Given the description of an element on the screen output the (x, y) to click on. 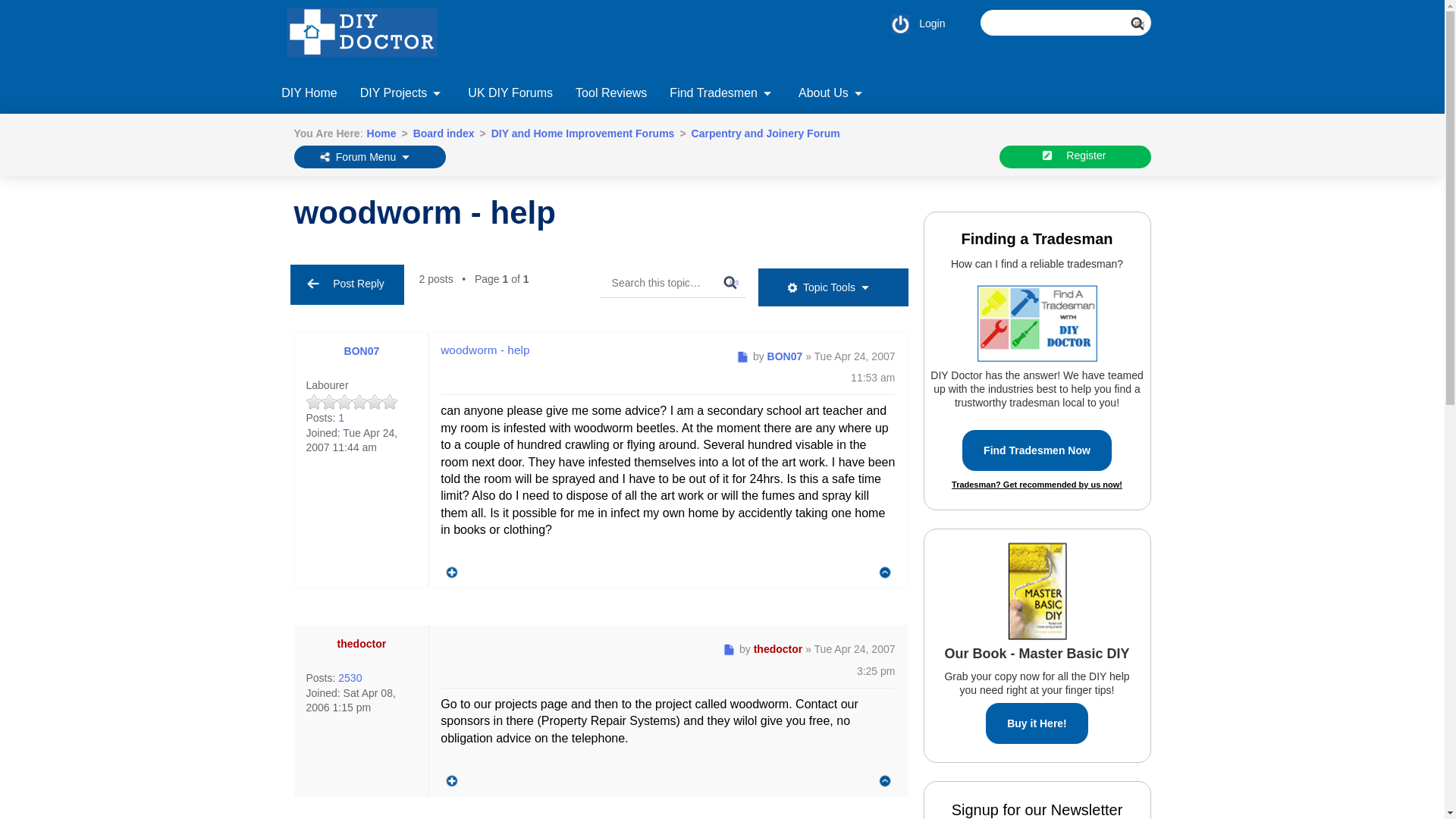
DIY Projects (403, 94)
Find Tradesmen (722, 94)
DIY Doctor DIY help and advice (309, 88)
UK DIY Forums (510, 94)
DIY Home (309, 94)
Tool Reviews (611, 94)
Find Tradesmen (722, 88)
DIY Home (309, 88)
DIY Doctor company logo (369, 36)
Login (913, 23)
Tool Reviews (611, 88)
Login (913, 23)
Search (1143, 30)
Search for keywords (1064, 22)
UK DIY Forums (510, 88)
